Given the description of an element on the screen output the (x, y) to click on. 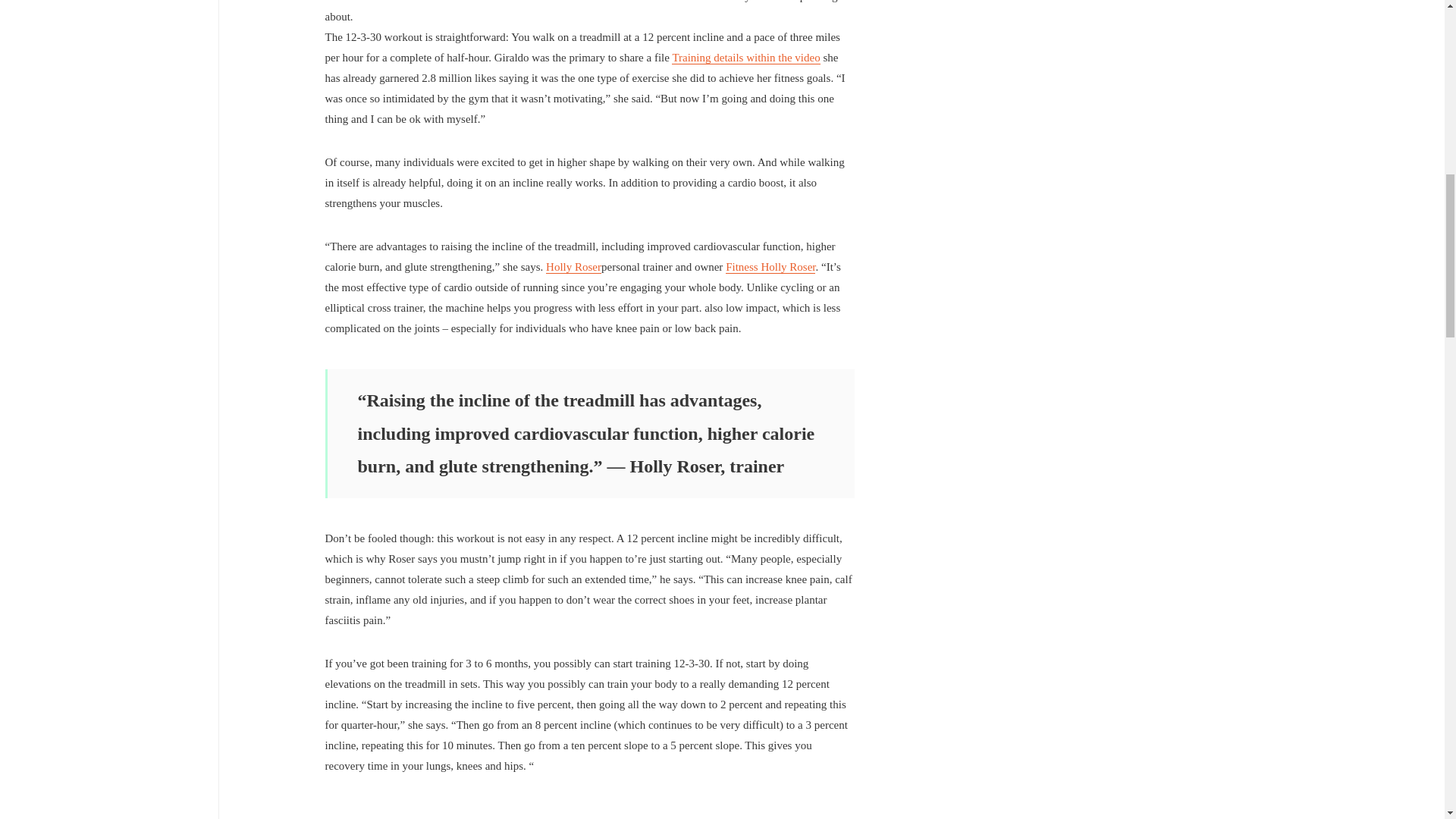
Training details within the video (745, 57)
Holly Roser (573, 267)
Fitness Holly Roser (770, 267)
